Given the description of an element on the screen output the (x, y) to click on. 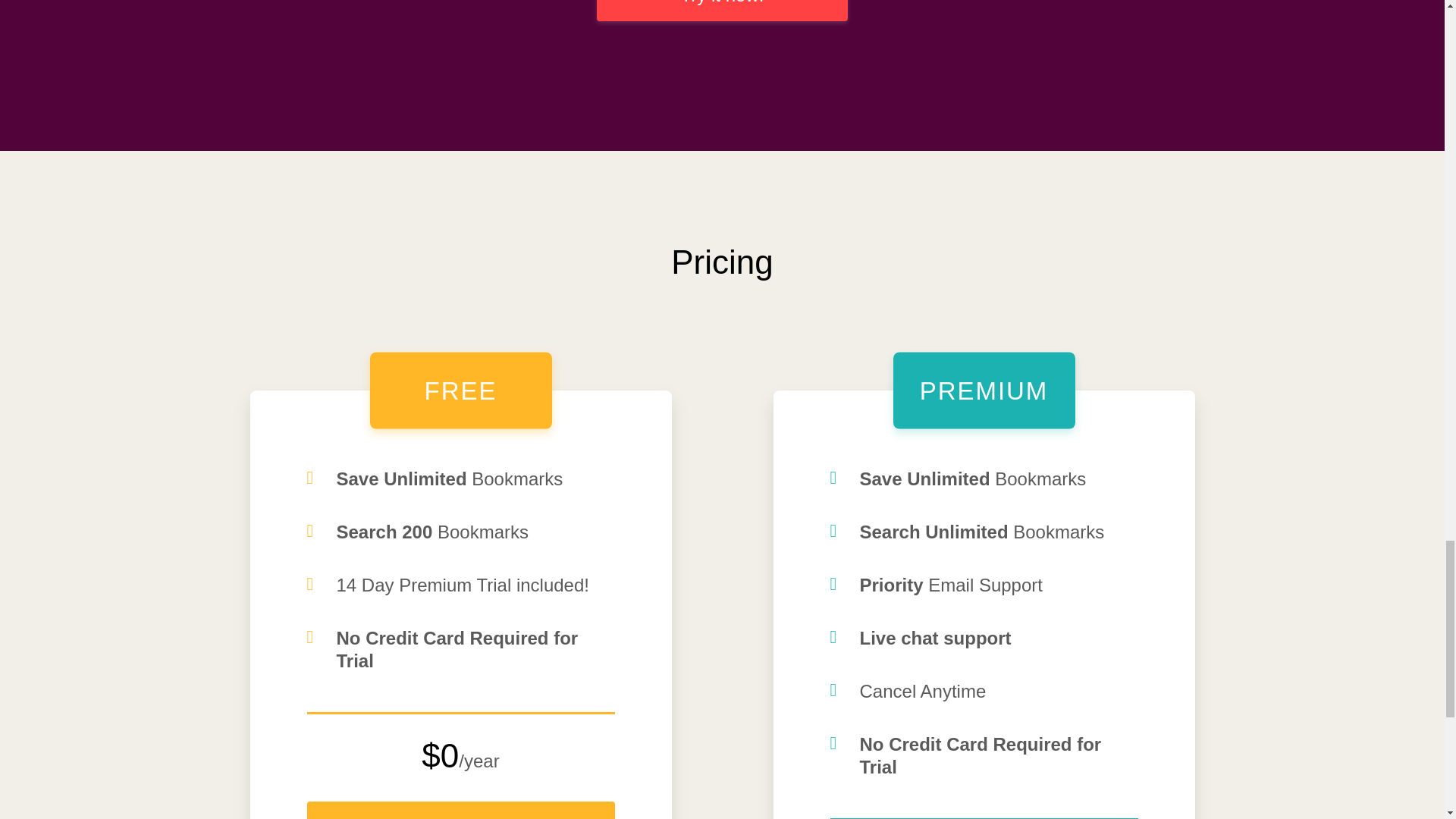
Sign up for Free (459, 810)
Try it now! (721, 10)
